Given the description of an element on the screen output the (x, y) to click on. 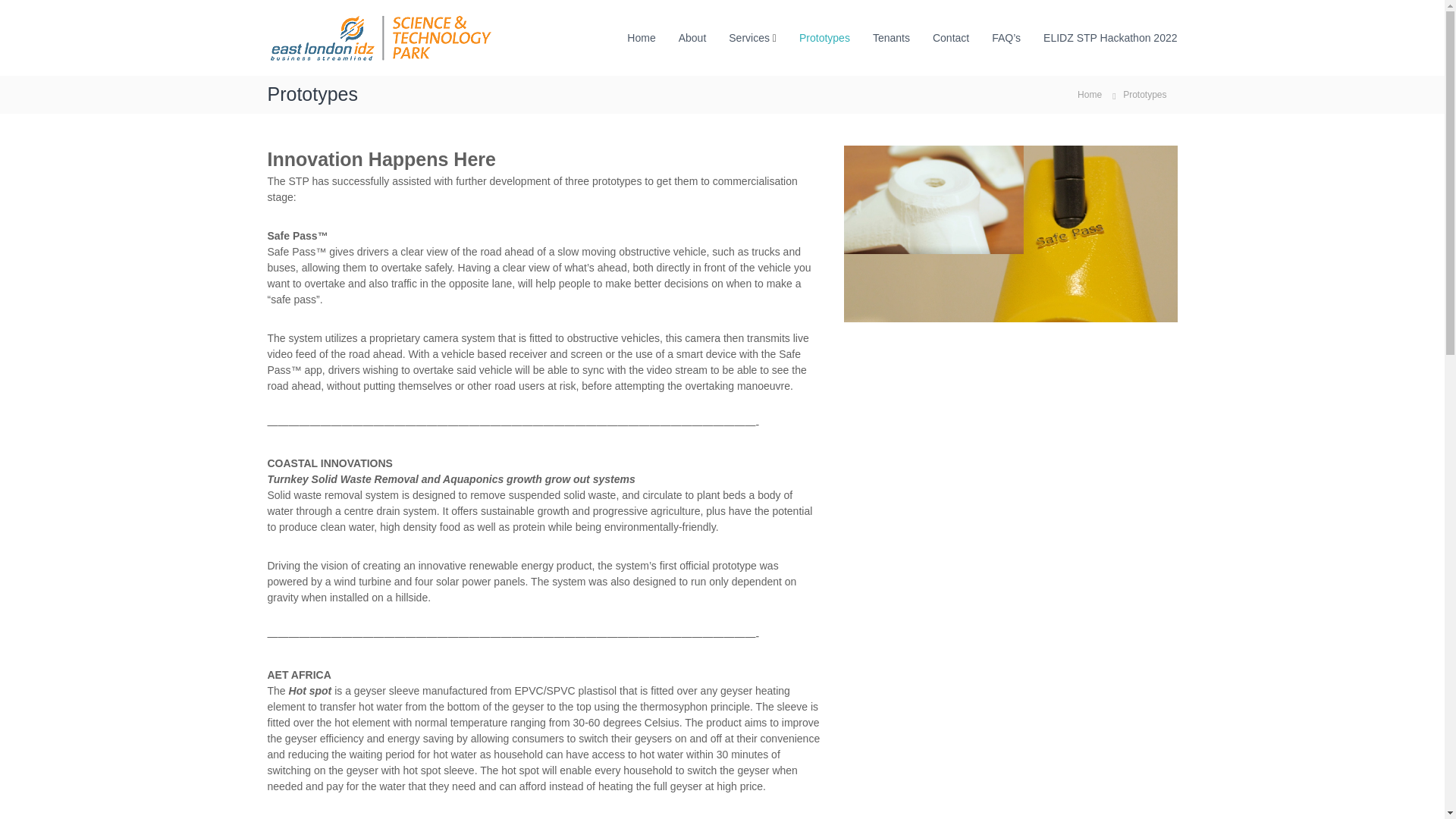
About (692, 37)
Home (1089, 93)
Home (1089, 93)
Services (749, 37)
Tenants (891, 37)
Prototypes (824, 37)
ELIDZ STP Hackathon 2022 (1109, 37)
Home (641, 37)
Contact (951, 37)
